Given the description of an element on the screen output the (x, y) to click on. 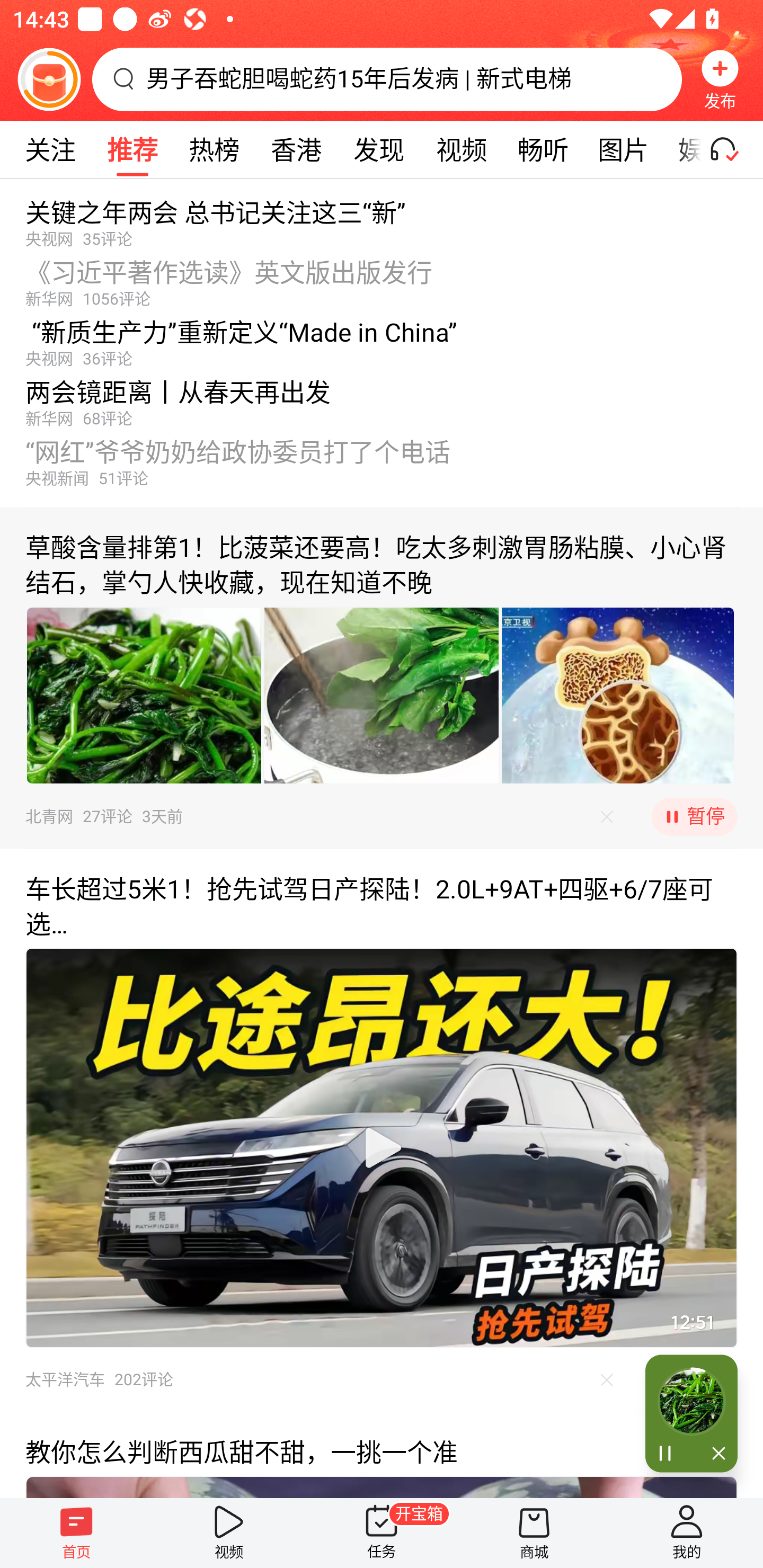
阅读赚金币 (48, 79)
男子吞蛇胆喝蛇药15年后发病 | 新式电梯 搜索框，男子吞蛇胆喝蛇药15年后发病 | 新式电梯 (387, 79)
发布 发布，按钮 (720, 78)
关注 (50, 149)
推荐 (132, 149)
热榜 (213, 149)
香港 (295, 149)
发现 (378, 149)
视频 (461, 149)
畅听 (542, 149)
图片 (623, 149)
听一听开关 (732, 149)
两会镜距离丨从春天再出发新华网68评论 文章 两会镜距离丨从春天再出发 新华网68评论 (381, 398)
内容图片 (143, 695)
内容图片 (381, 695)
内容图片 (617, 695)
暂停 (694, 816)
不感兴趣 (607, 816)
播放视频 视频播放器，双击屏幕打开播放控制 (381, 1147)
播放视频 (381, 1147)
不感兴趣 (607, 1379)
暂停 (668, 1454)
关闭 (714, 1454)
首页 (76, 1532)
视频 (228, 1532)
任务 开宝箱 (381, 1532)
商城 (533, 1532)
我的 (686, 1532)
